Given the description of an element on the screen output the (x, y) to click on. 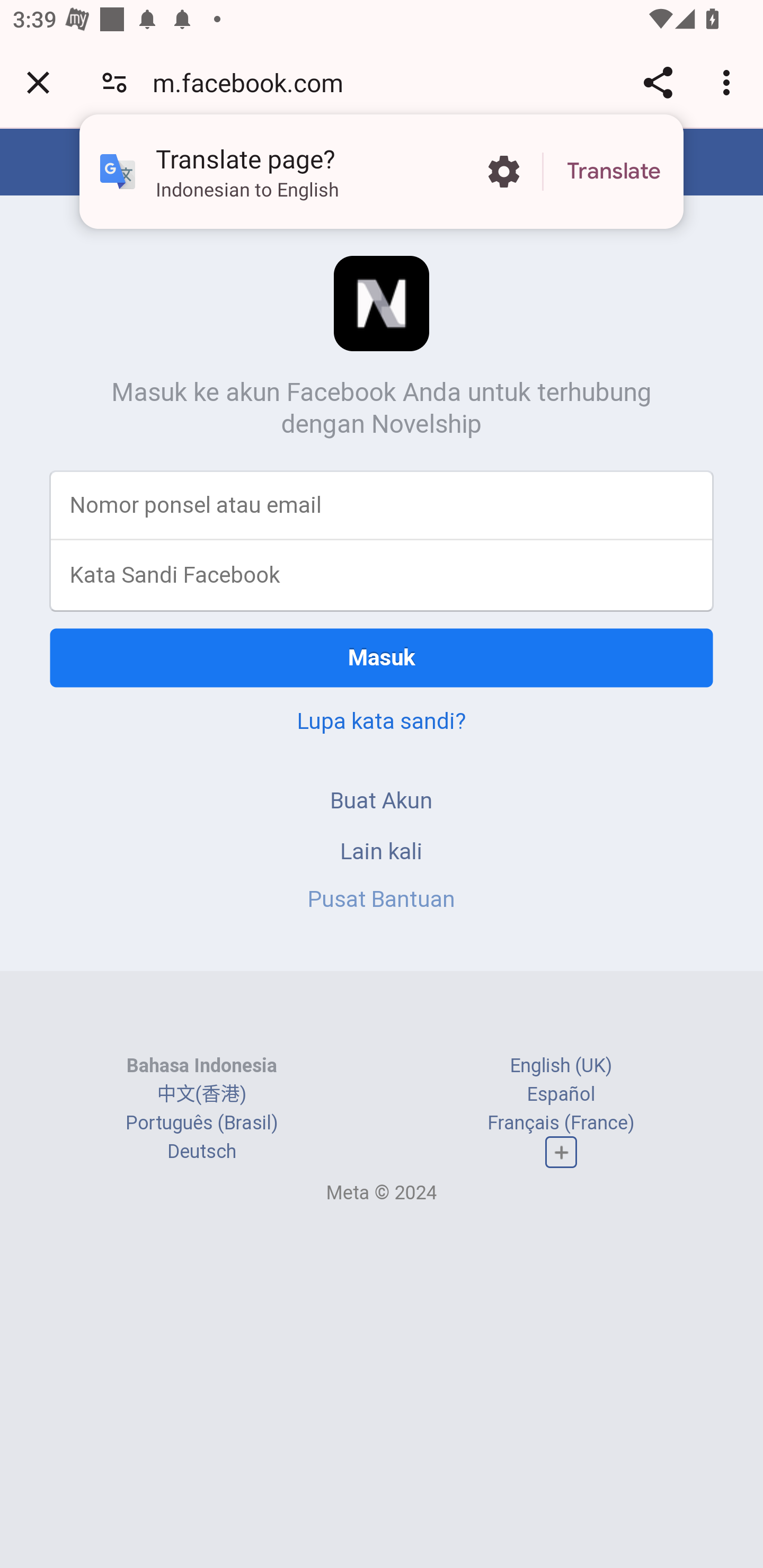
Close tab (38, 82)
Share (657, 82)
Customize and control Google Chrome (729, 82)
Connection is secure (114, 81)
m.facebook.com (254, 81)
Translate (613, 171)
More options in the Translate page? (503, 171)
Masuk (381, 657)
Lupa kata sandi? (381, 720)
Buat Akun (381, 800)
Lain kali (381, 850)
Pusat Bantuan (381, 898)
English (UK) (560, 1065)
中文(香港) (201, 1093)
Español (560, 1093)
Português (Brasil) (201, 1122)
Français (France) (560, 1122)
Daftar bahasa lengkap (560, 1152)
Deutsch (201, 1151)
